Given the description of an element on the screen output the (x, y) to click on. 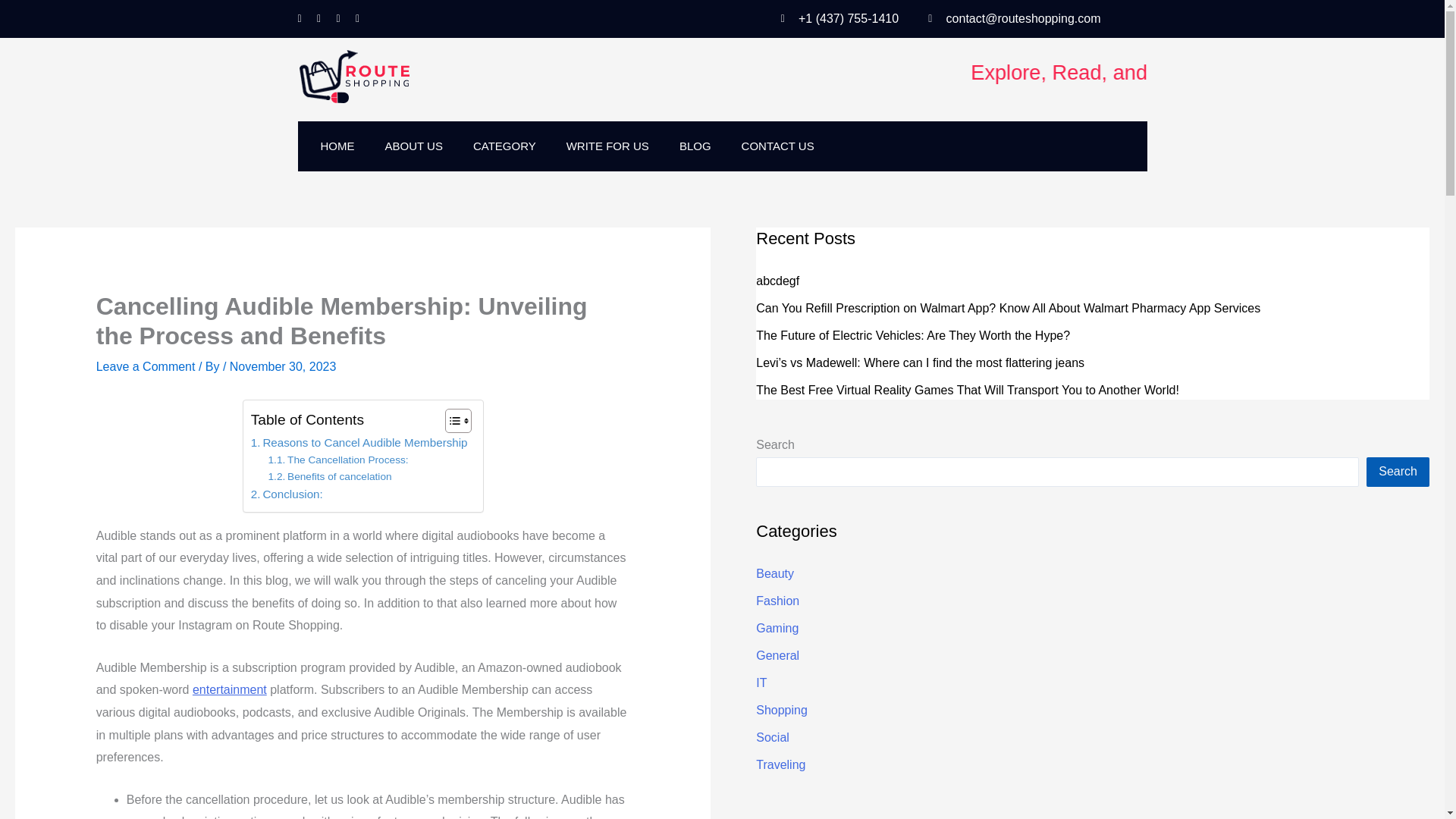
The Future of Electric Vehicles: Are They Worth the Hype? (912, 335)
Leave a Comment (145, 366)
entertainment (229, 689)
Benefits of cancelation (329, 476)
ABOUT US (413, 145)
CATEGORY (504, 145)
Reasons to Cancel Audible Membership (358, 443)
Conclusion: (286, 494)
The Cancellation Process: (337, 460)
The Cancellation Process: (337, 460)
CONTACT US (777, 145)
Benefits of cancelation (329, 476)
HOME (336, 145)
